Given the description of an element on the screen output the (x, y) to click on. 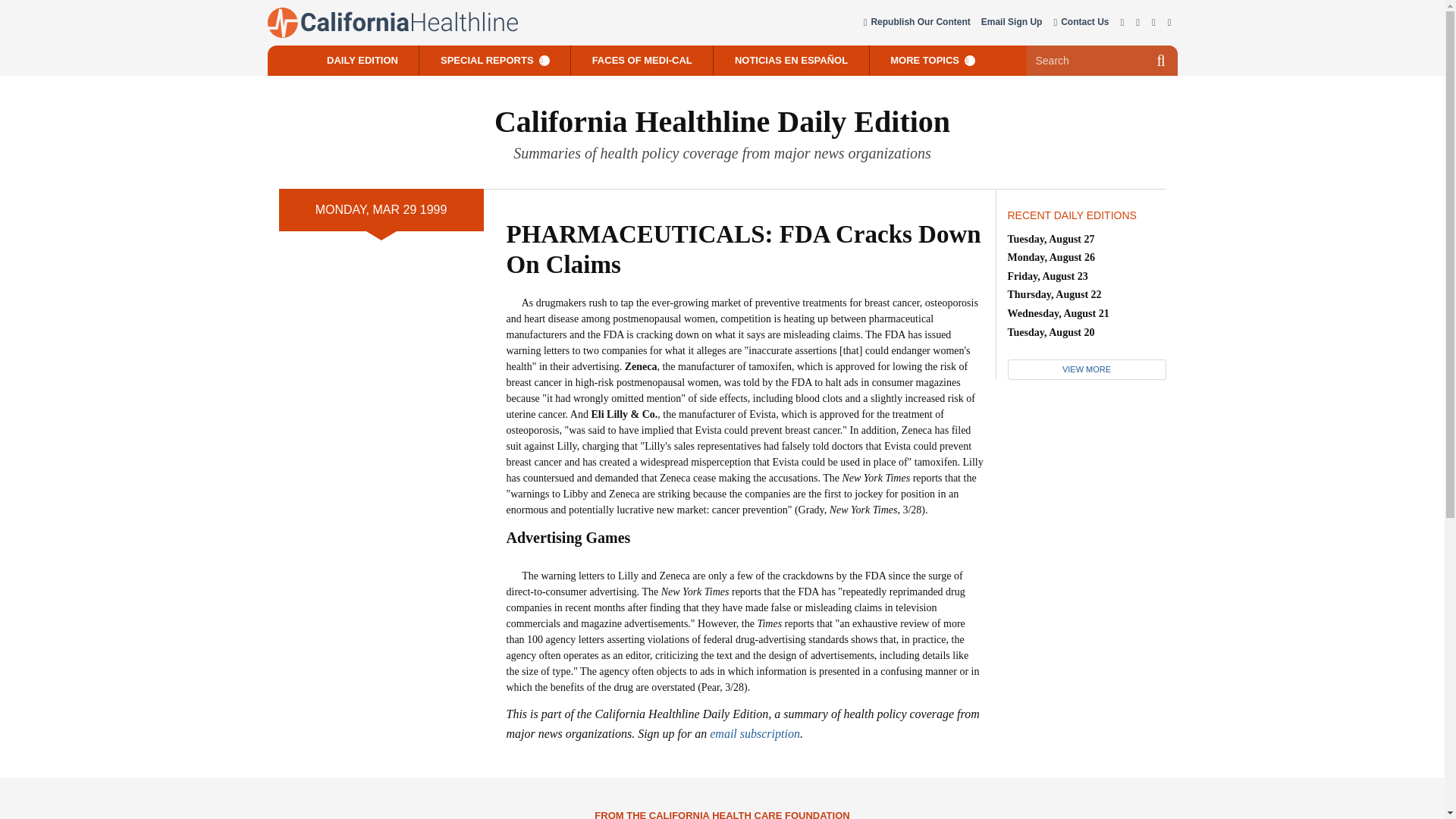
Wednesday, August 21 (1057, 313)
Republish Our Content (916, 22)
Friday, August 23 (1047, 276)
VIEW MORE (1086, 369)
Tuesday, August 20 (1050, 332)
Tuesday, August 27 (1050, 238)
Email Sign Up (1011, 22)
DAILY EDITION (362, 60)
California Healthline (391, 22)
Thursday, August 22 (1053, 294)
